Given the description of an element on the screen output the (x, y) to click on. 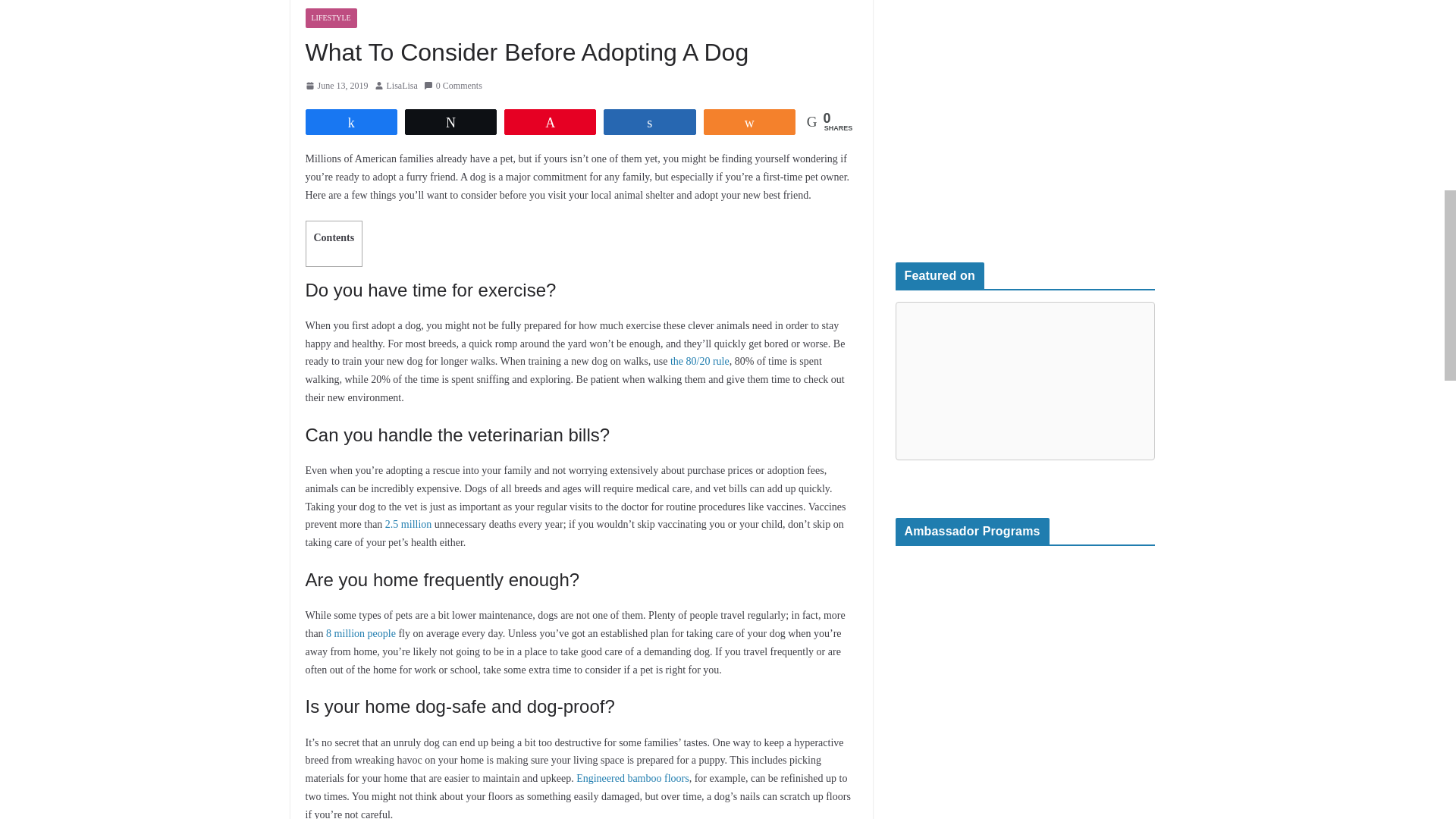
LIFESTYLE (330, 17)
0 Comments (452, 86)
LisaLisa (402, 86)
LisaLisa (402, 86)
2.5 million (407, 523)
11:15 am (336, 86)
Engineered bamboo floors (632, 778)
June 13, 2019 (336, 86)
8 million people (361, 633)
